Given the description of an element on the screen output the (x, y) to click on. 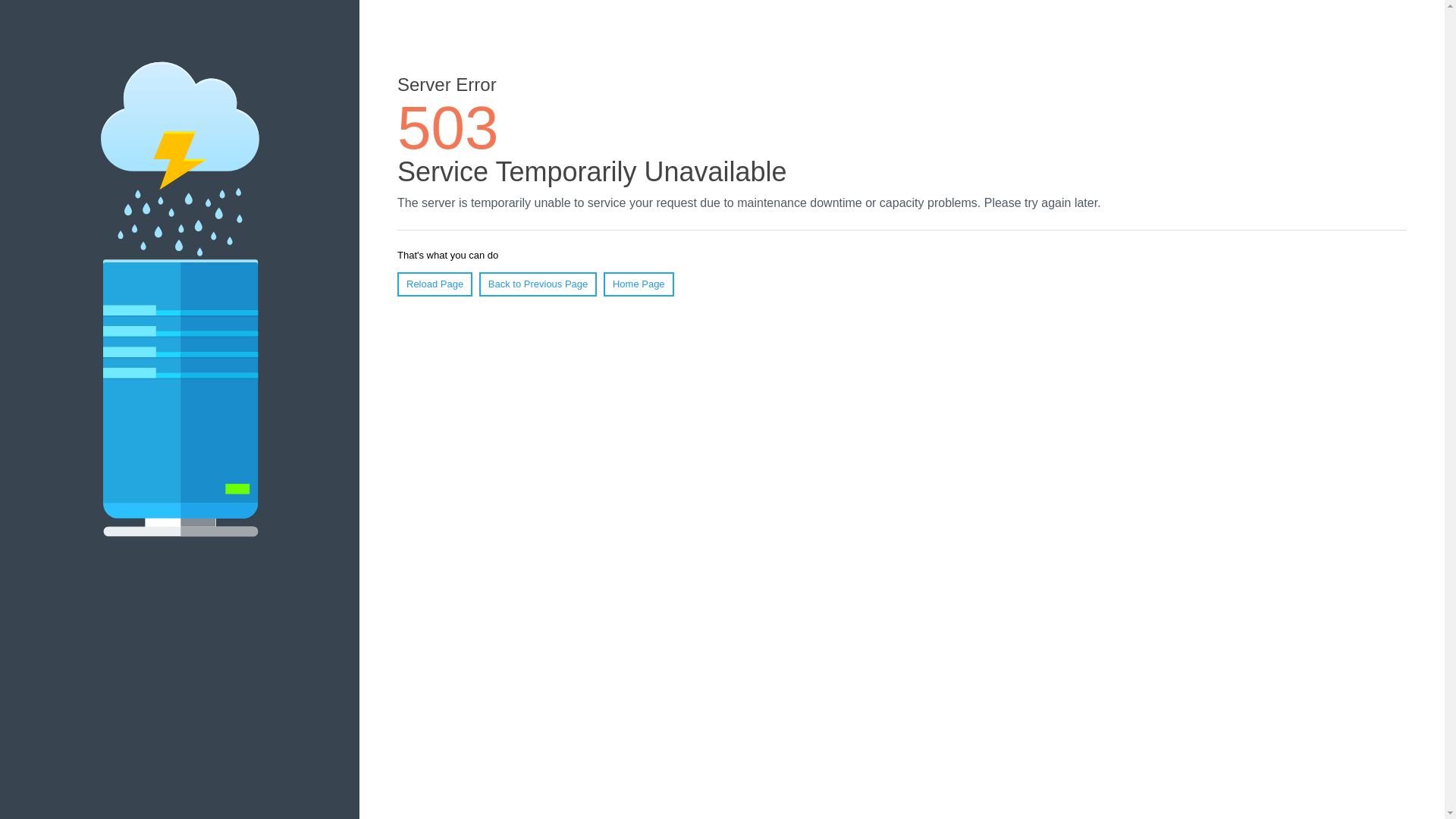
Back to Previous Page Element type: text (538, 284)
Reload Page Element type: text (434, 284)
Home Page Element type: text (638, 284)
